Given the description of an element on the screen output the (x, y) to click on. 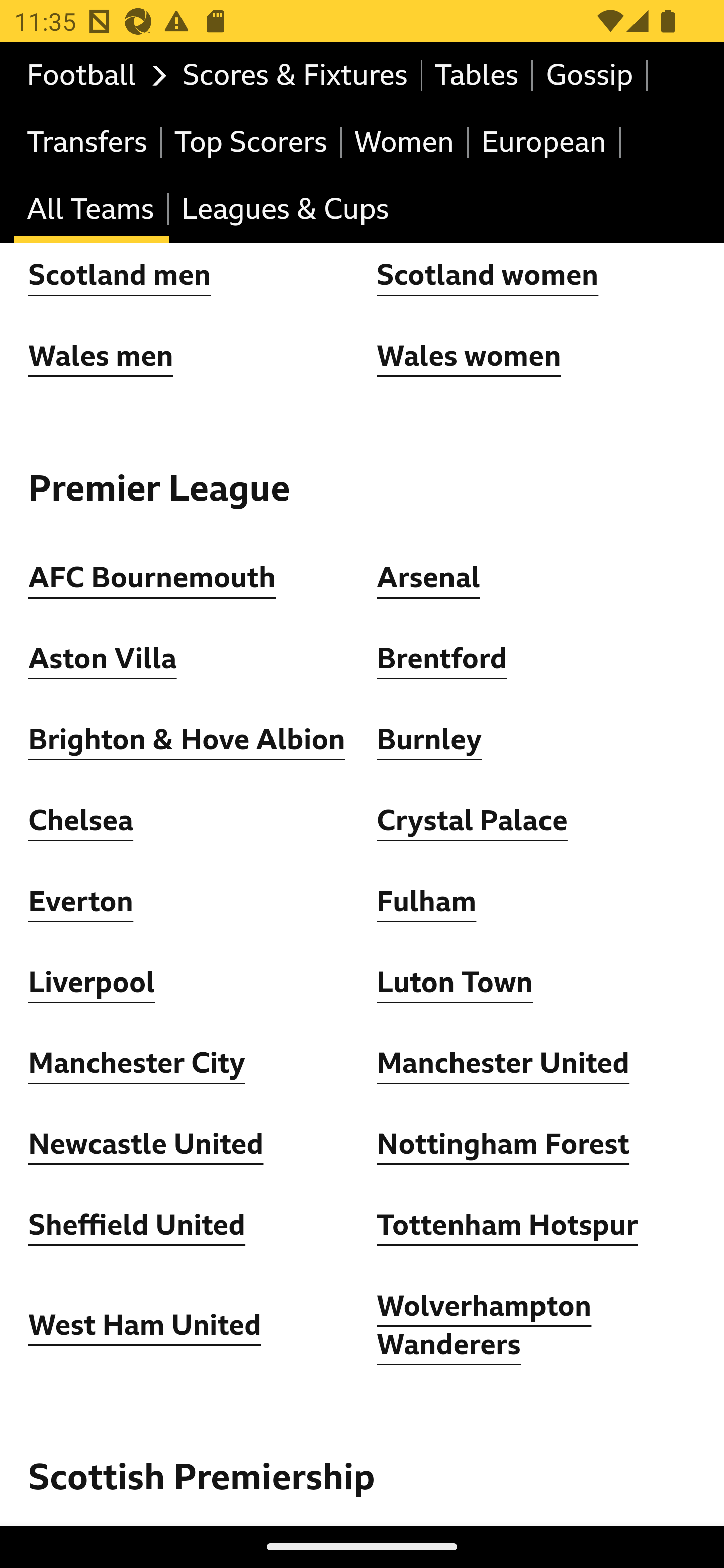
Scotland men (120, 275)
Scotland women (487, 275)
Wales men (100, 356)
Wales women (468, 356)
AFC Bournemouth (151, 578)
Arsenal (428, 578)
Aston Villa (102, 659)
Brentford (442, 659)
Brighton & Hove Albion (187, 739)
Burnley (429, 739)
Chelsea (80, 820)
Crystal Palace (472, 820)
Everton (80, 902)
Fulham (426, 902)
Liverpool (92, 982)
Luton Town (455, 982)
Manchester City (137, 1063)
Manchester United (503, 1063)
Newcastle United (146, 1144)
Nottingham Forest (503, 1144)
Sheffield United (137, 1225)
Tottenham Hotspur (507, 1225)
Wolverhampton Wanderers (484, 1325)
West Ham United (145, 1326)
